Given the description of an element on the screen output the (x, y) to click on. 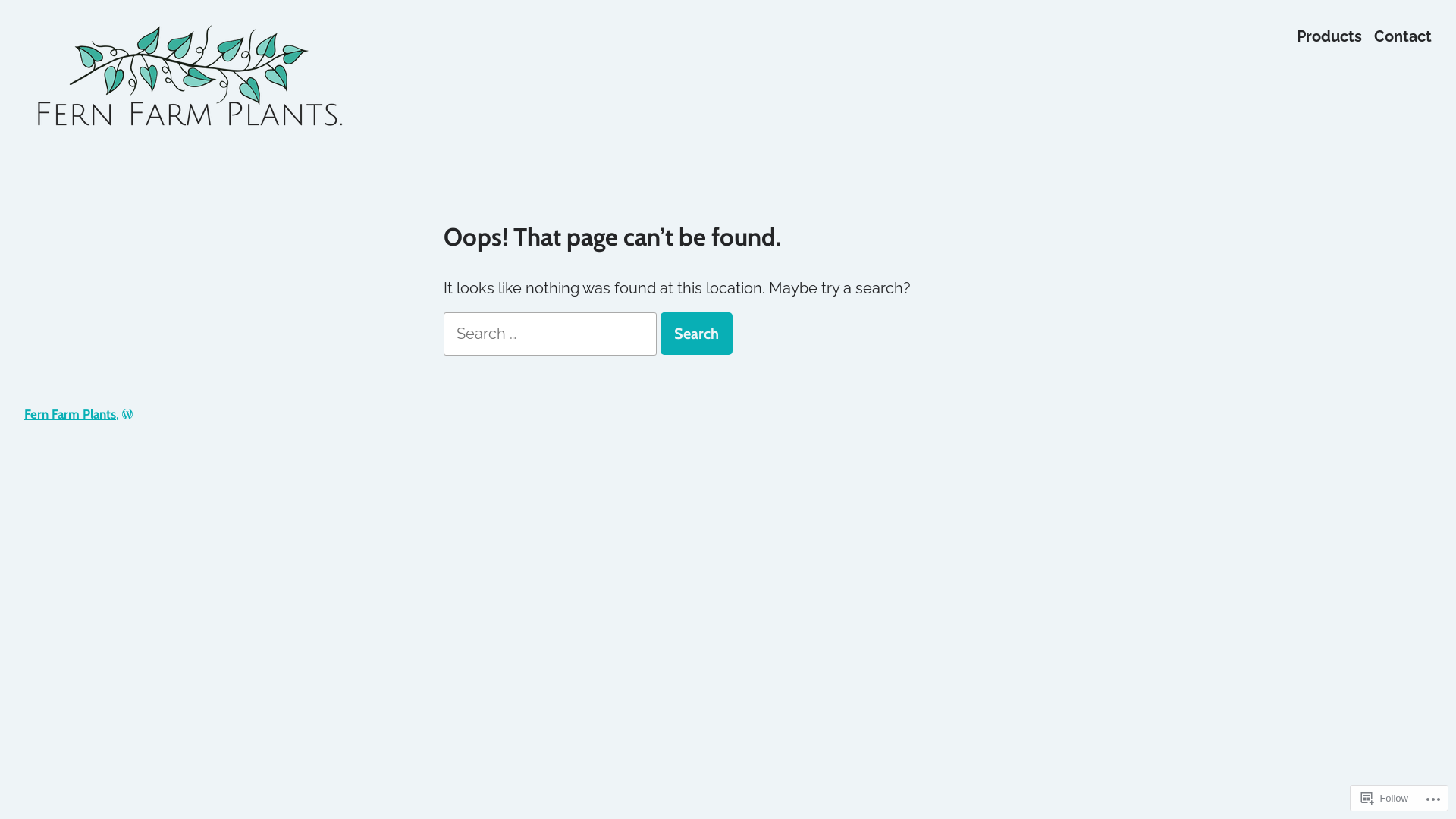
Follow Element type: text (1384, 797)
Fern Farm Plants Element type: text (70, 413)
Search Element type: text (696, 333)
Products Element type: text (1328, 35)
Contact Element type: text (1402, 35)
Fern Farm Plants Element type: text (89, 161)
Create a website or blog at WordPress.com Element type: hover (127, 413)
